Given the description of an element on the screen output the (x, y) to click on. 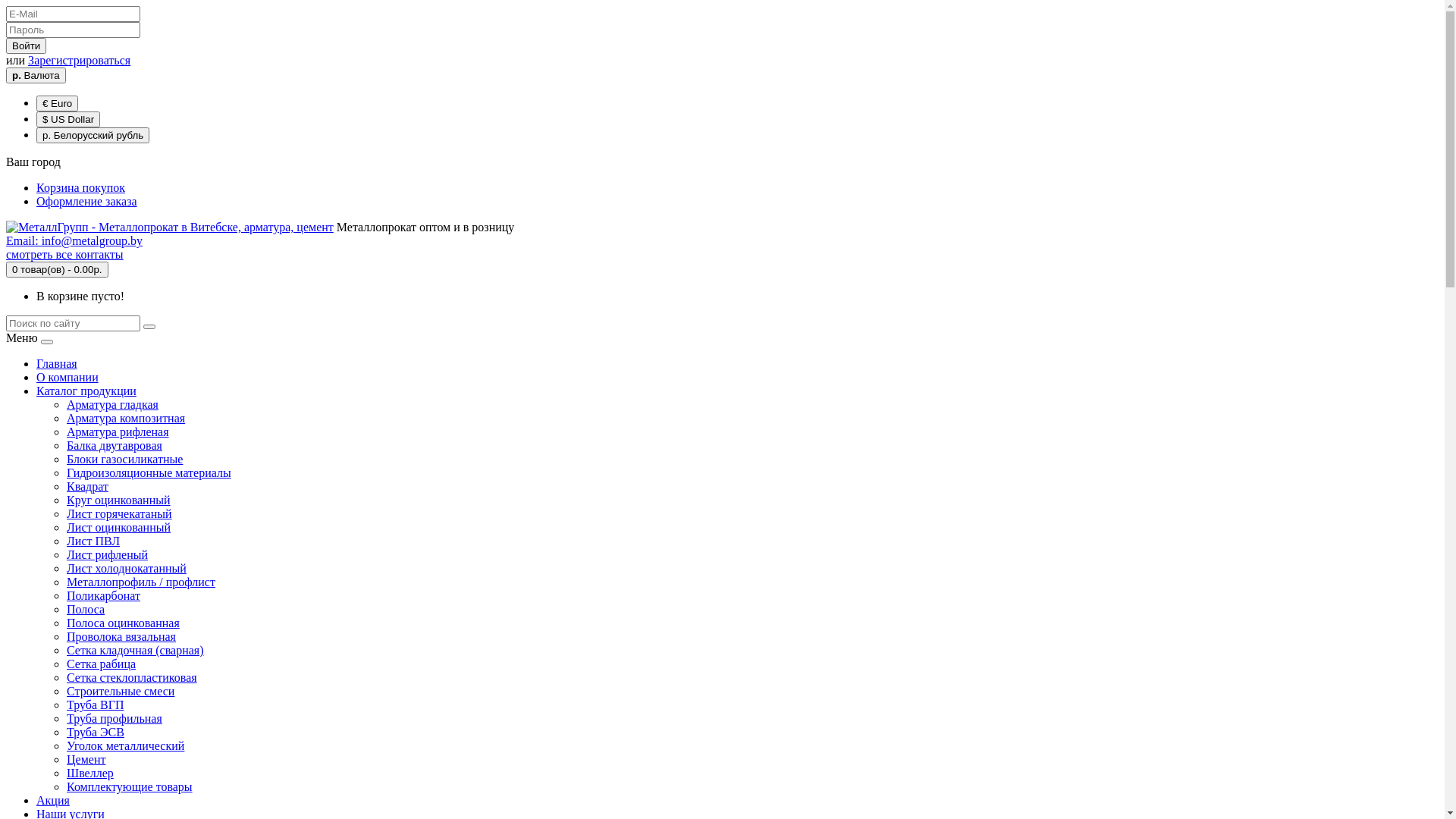
Email: info@metalgroup.by Element type: text (74, 240)
$ US Dollar Element type: text (68, 119)
